Given the description of an element on the screen output the (x, y) to click on. 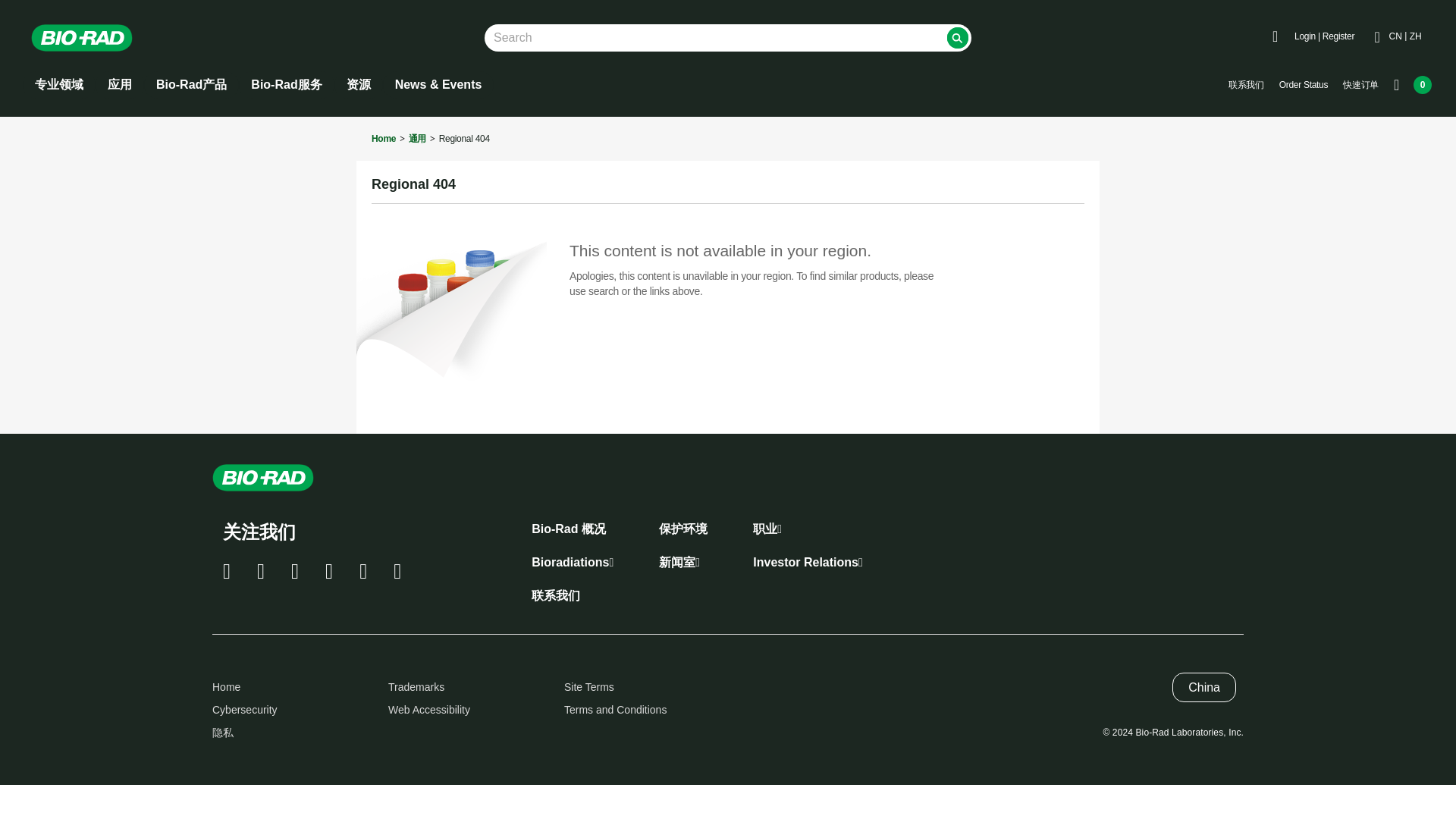
Search (957, 37)
0 (1412, 84)
Order Status (1303, 84)
Bio-Rad (81, 37)
Search (957, 37)
Search (957, 37)
Order Status (1303, 84)
Shopping Cart (1412, 84)
Bio-Rad (92, 37)
Please enter search keywords (727, 37)
